Given the description of an element on the screen output the (x, y) to click on. 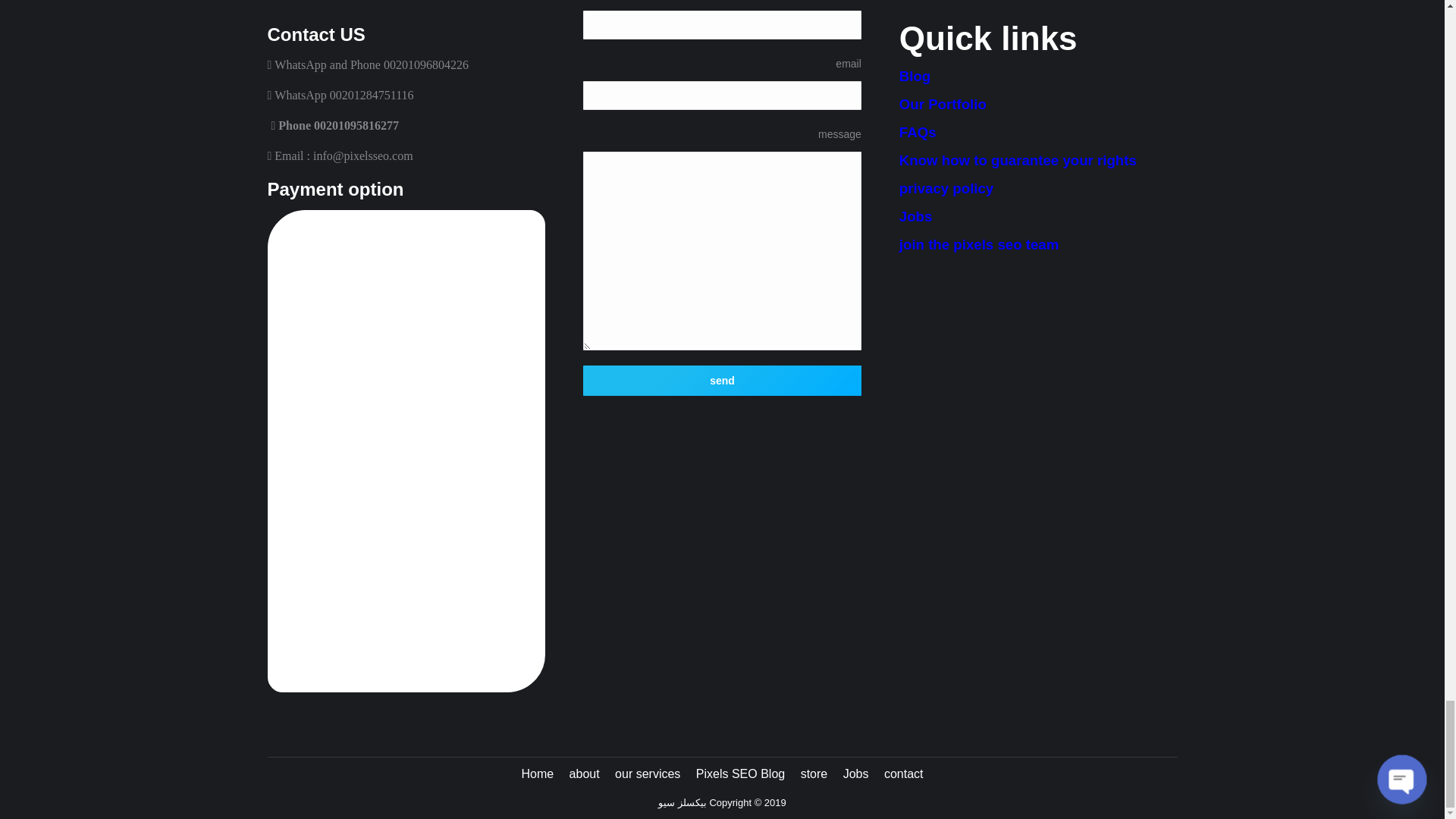
send (722, 380)
